Given the description of an element on the screen output the (x, y) to click on. 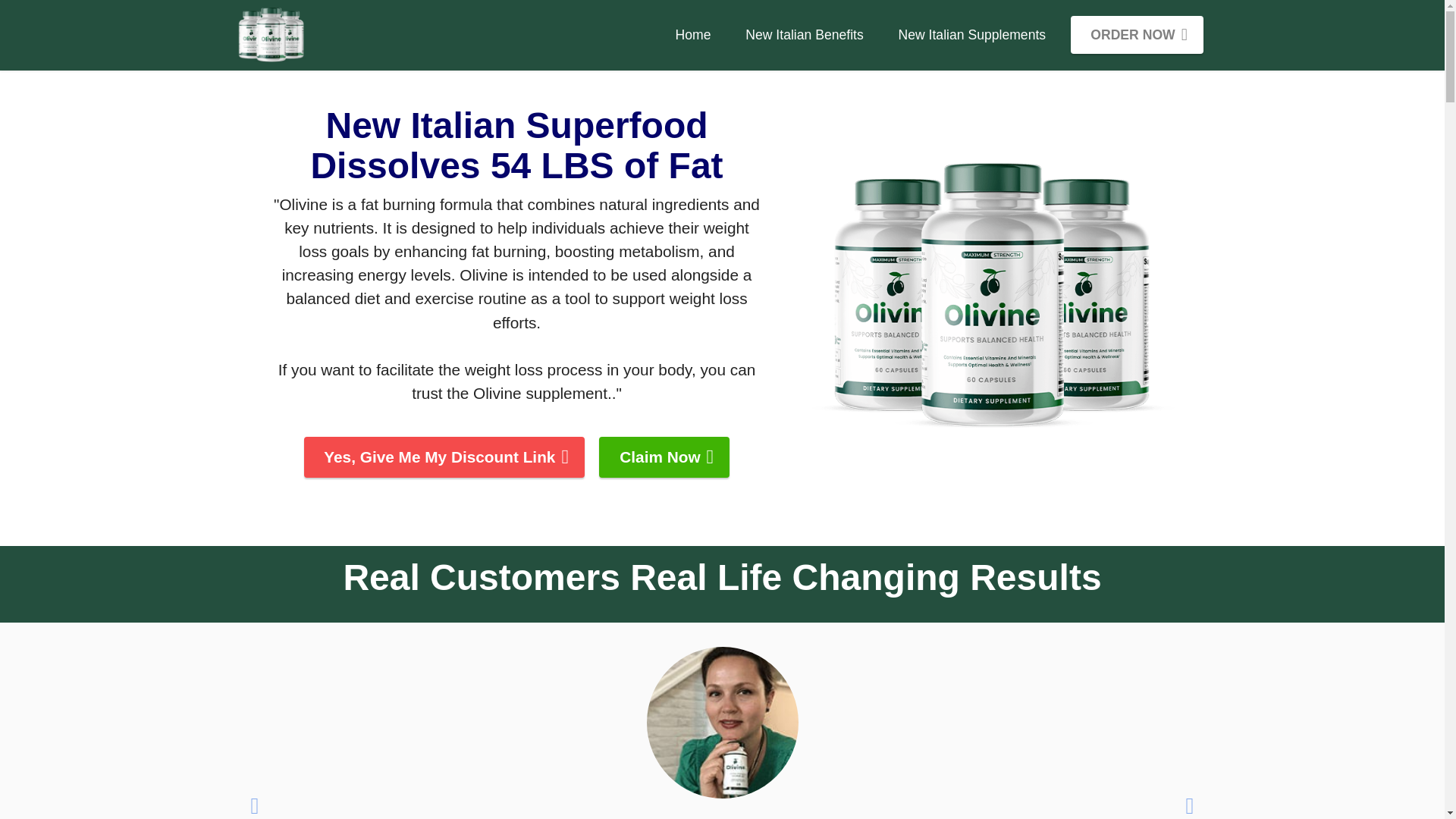
 ORDER NOW (1137, 34)
Home (692, 35)
 Claim Now (663, 456)
New Italian Supplements (971, 35)
New Italian Benefits (804, 35)
Previous (255, 800)
 Yes, Give Me My Discount Link (444, 456)
Next (1186, 800)
